Given the description of an element on the screen output the (x, y) to click on. 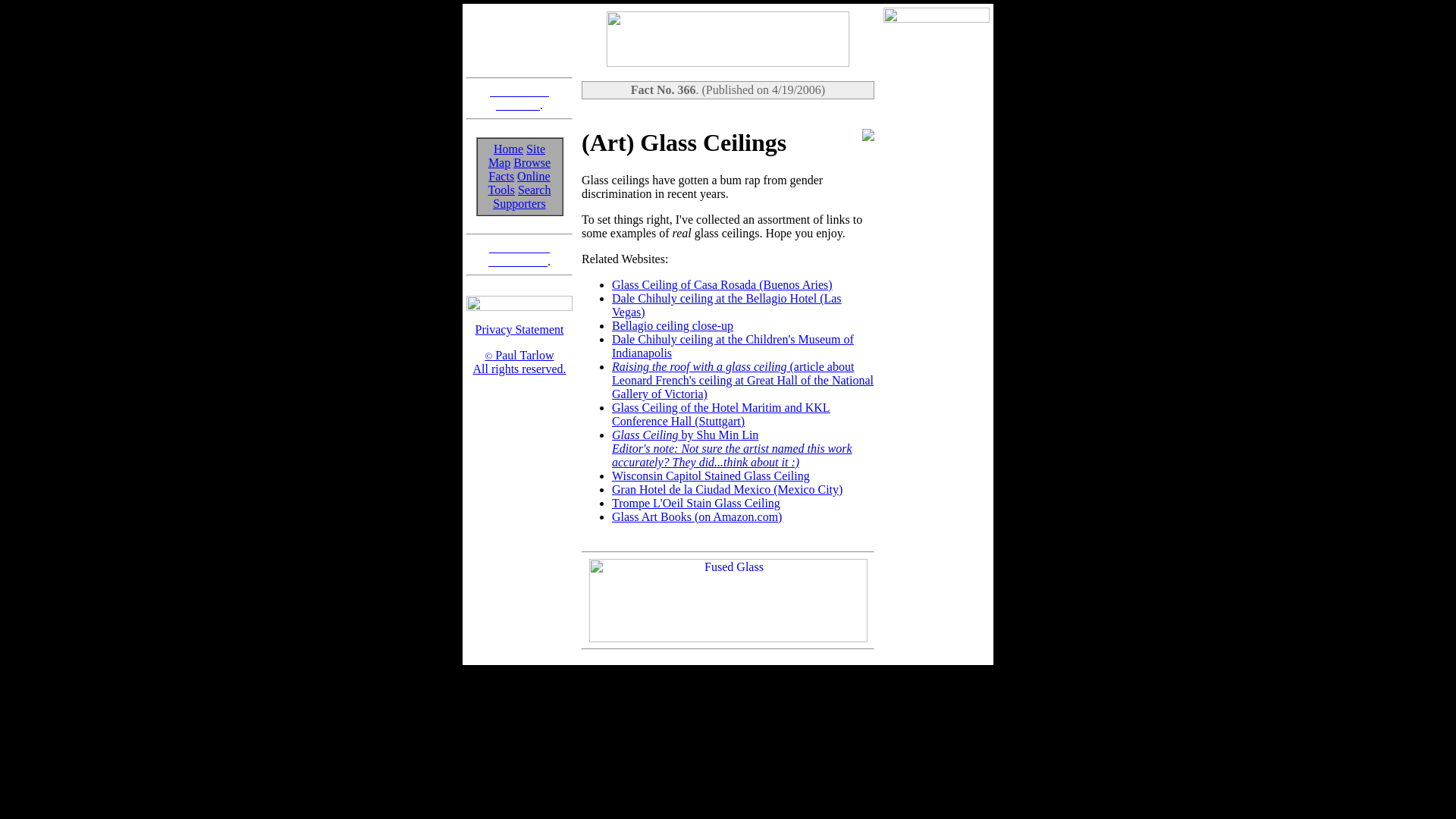
Wisconsin Capitol Stained Glass Ceiling (710, 475)
Site Map (515, 155)
Privacy Statement (520, 328)
Bellagio ceiling close-up (518, 253)
Home (672, 325)
Supporters (507, 148)
Search (518, 203)
Browse Facts (534, 189)
Trompe L'Oeil Stain Glass Ceiling (518, 169)
